Given the description of an element on the screen output the (x, y) to click on. 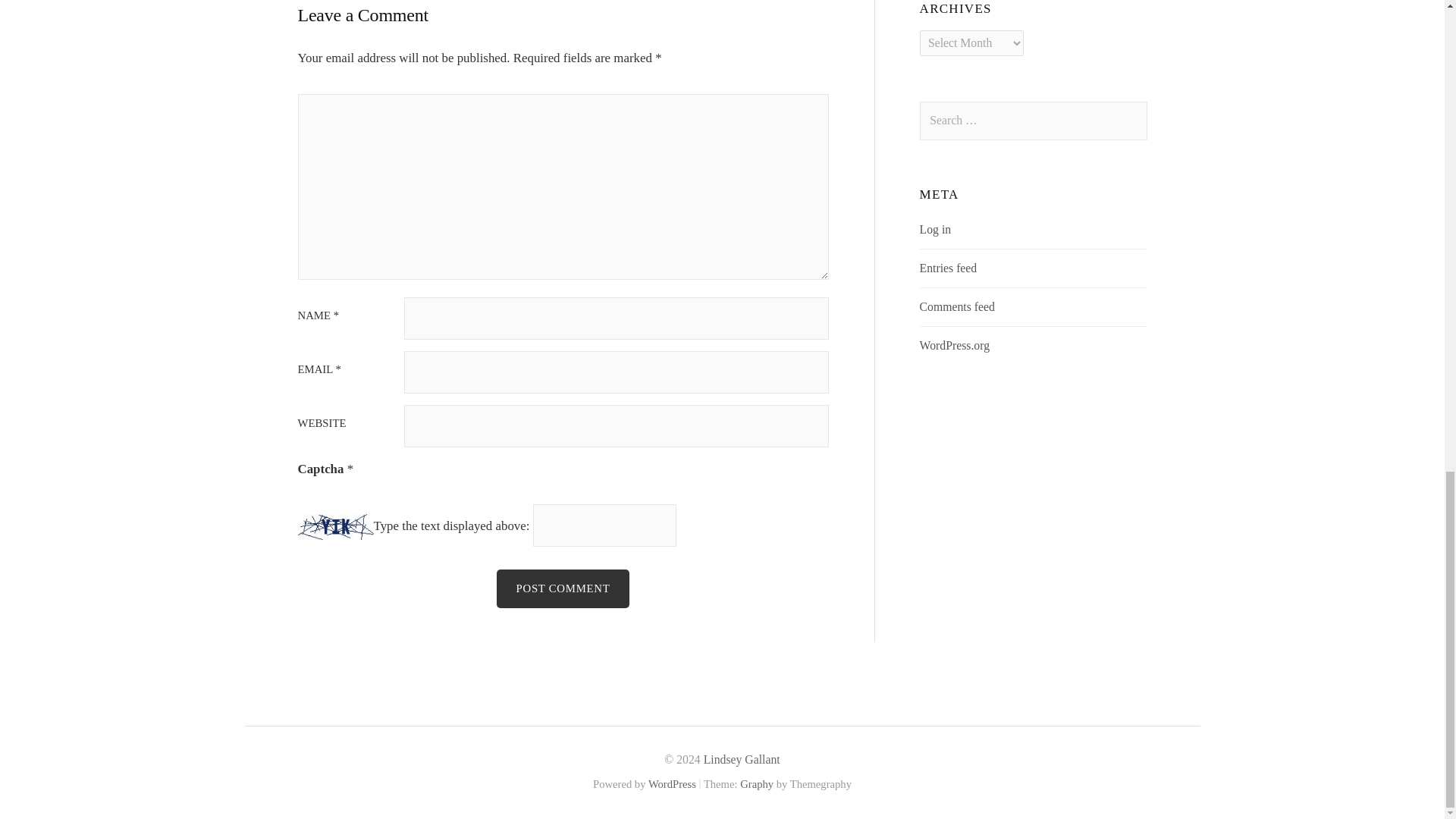
Graphy (756, 784)
WordPress.org (955, 345)
Post Comment (562, 588)
Post Comment (562, 588)
WordPress (671, 784)
Entries feed (948, 267)
Log in (936, 228)
Comments feed (957, 306)
Lindsey Gallant (741, 758)
